Given the description of an element on the screen output the (x, y) to click on. 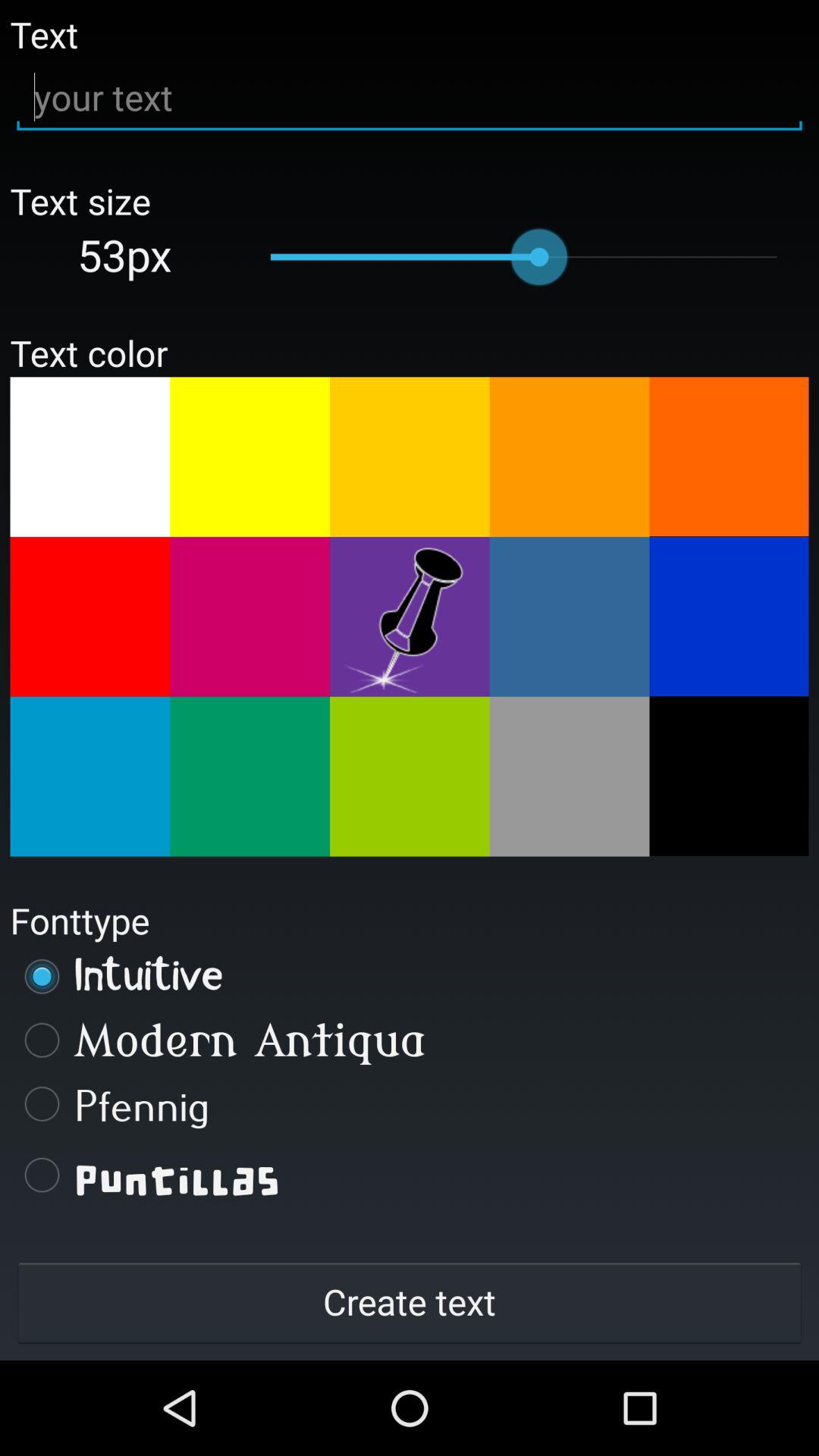
select color (90, 456)
